Given the description of an element on the screen output the (x, y) to click on. 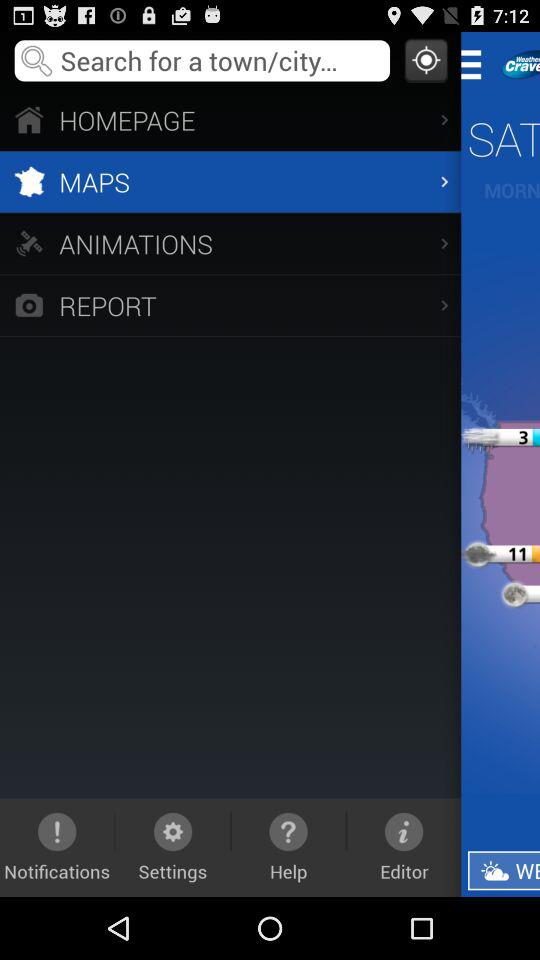
launch item next to the editor app (504, 870)
